Given the description of an element on the screen output the (x, y) to click on. 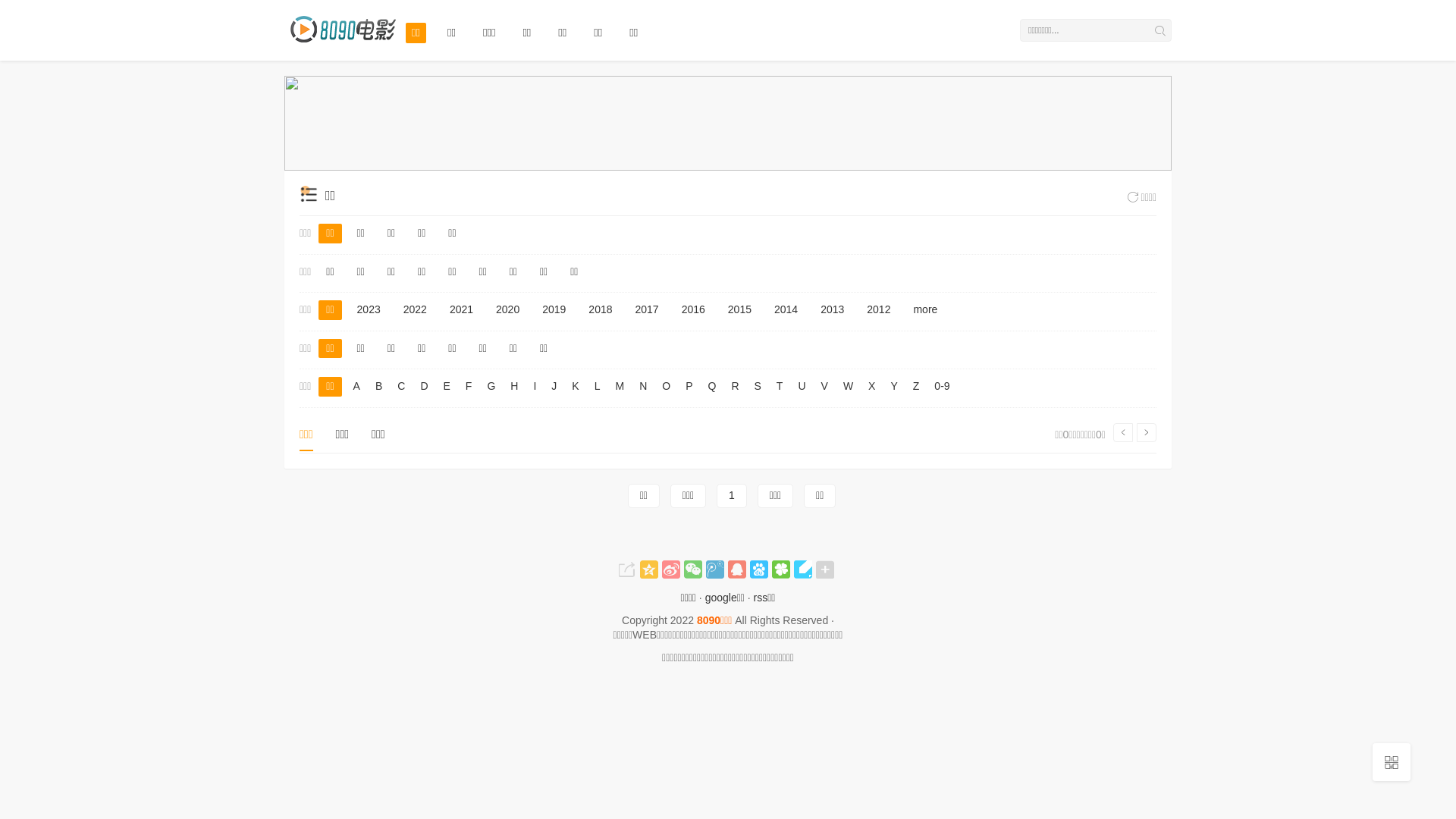
G Element type: text (490, 386)
A Element type: text (356, 386)
H Element type: text (513, 386)
O Element type: text (666, 386)
2020 Element type: text (507, 310)
L Element type: text (597, 386)
2018 Element type: text (599, 310)
B Element type: text (378, 386)
2021 Element type: hover (727, 122)
U Element type: text (801, 386)
J Element type: text (553, 386)
N Element type: text (642, 386)
M Element type: text (619, 386)
1 Element type: text (731, 495)
C Element type: text (400, 386)
2012 Element type: text (878, 310)
more Element type: text (924, 310)
F Element type: text (468, 386)
Y Element type: text (893, 386)
Q Element type: text (711, 386)
D Element type: text (423, 386)
2013 Element type: text (831, 310)
Z Element type: text (916, 386)
I Element type: text (534, 386)
2016 Element type: text (693, 310)
E Element type: text (446, 386)
2019 Element type: text (553, 310)
0-9 Element type: text (941, 386)
K Element type: text (574, 386)
V Element type: text (824, 386)
R Element type: text (734, 386)
P Element type: text (688, 386)
S Element type: text (757, 386)
T Element type: text (779, 386)
2021 Element type: text (461, 310)
2015 Element type: text (739, 310)
W Element type: text (847, 386)
2014 Element type: text (785, 310)
2022 Element type: text (414, 310)
2017 Element type: text (646, 310)
2023 Element type: text (368, 310)
X Element type: text (871, 386)
